Given the description of an element on the screen output the (x, y) to click on. 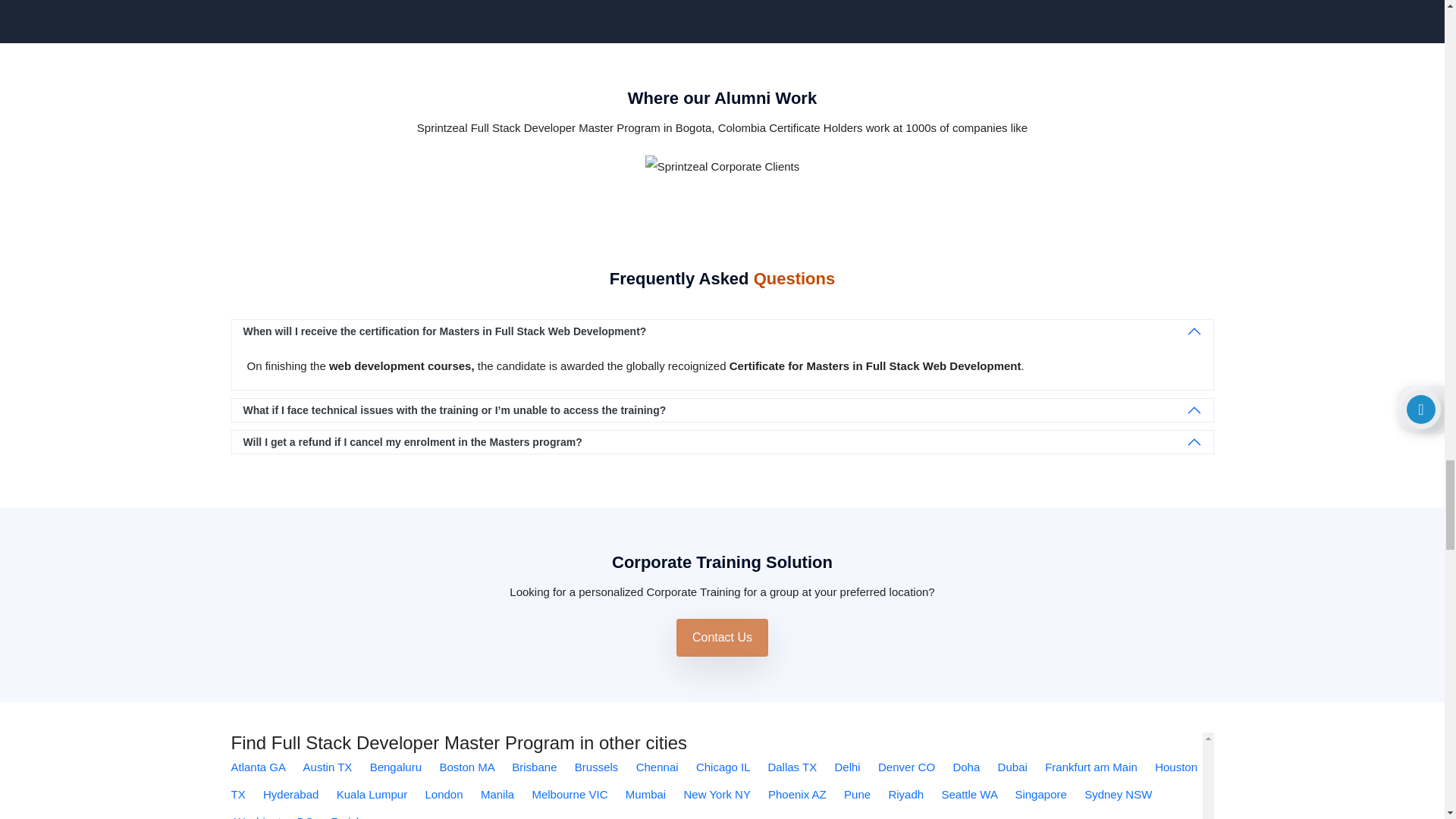
Full Stack Developer Master Program in Austin TX (328, 766)
Full Stack Developer Master Program in Bengaluru (397, 766)
Full Stack Developer Master Program in Atlanta GA (259, 766)
Sprintzeal Corporate Clients (722, 166)
